Given the description of an element on the screen output the (x, y) to click on. 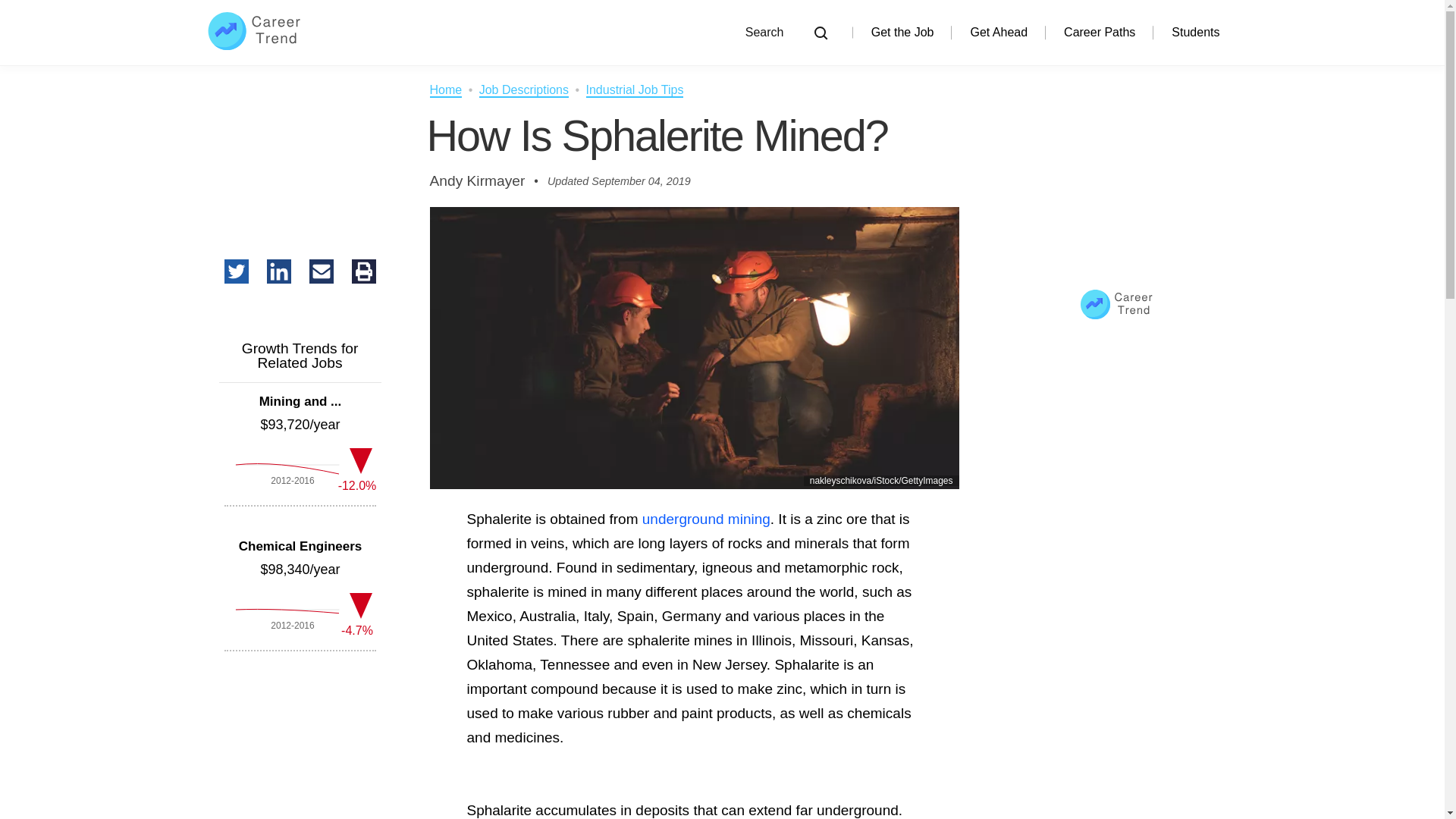
Get Ahead (998, 31)
Career Paths (1099, 31)
Students (1196, 31)
Get the Job (902, 31)
